Given the description of an element on the screen output the (x, y) to click on. 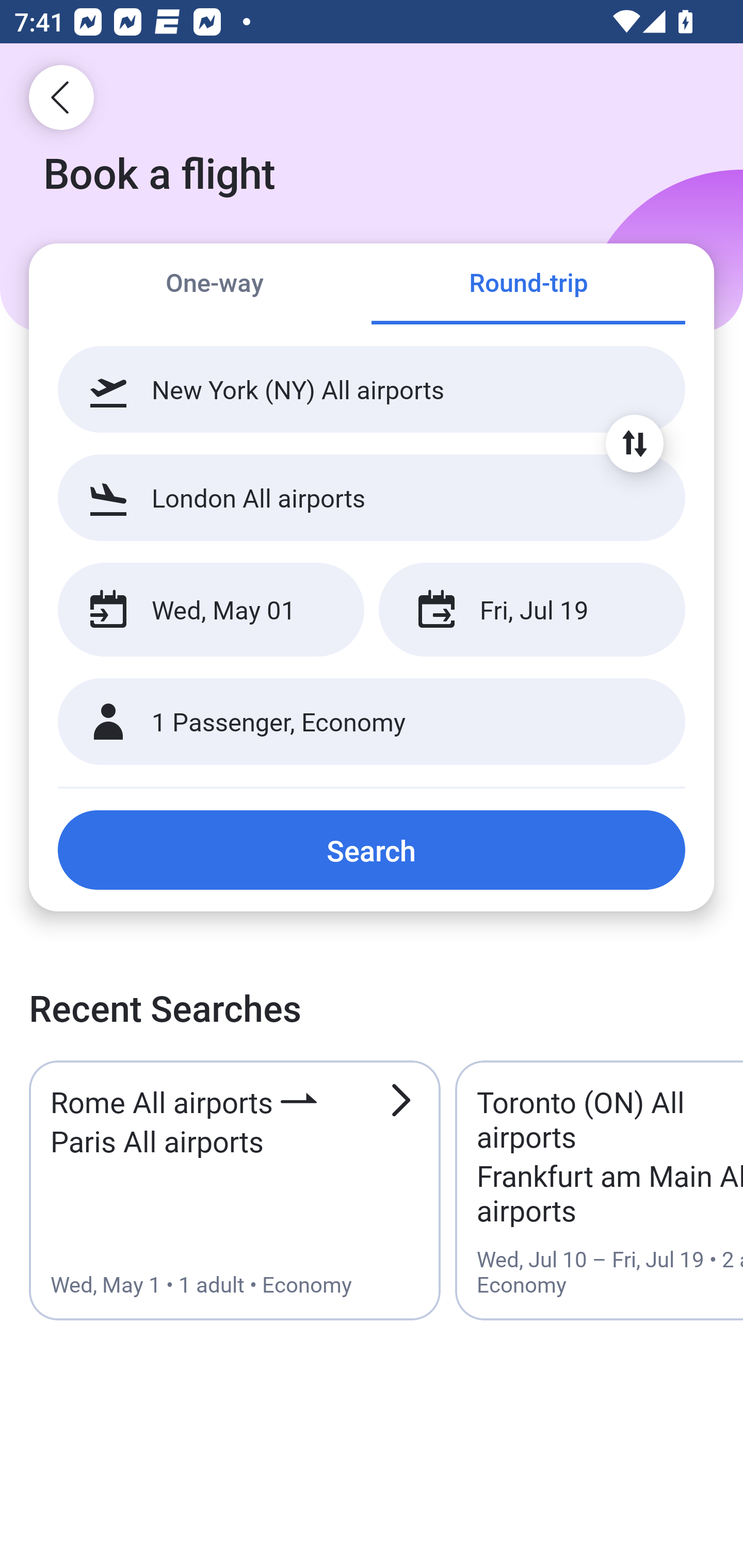
One-way (214, 284)
New York (NY) All airports (371, 389)
London All airports (371, 497)
Wed, May 01 (210, 609)
Fri, Jul 19 (531, 609)
1 Passenger, Economy (371, 721)
Search (371, 849)
